Given the description of an element on the screen output the (x, y) to click on. 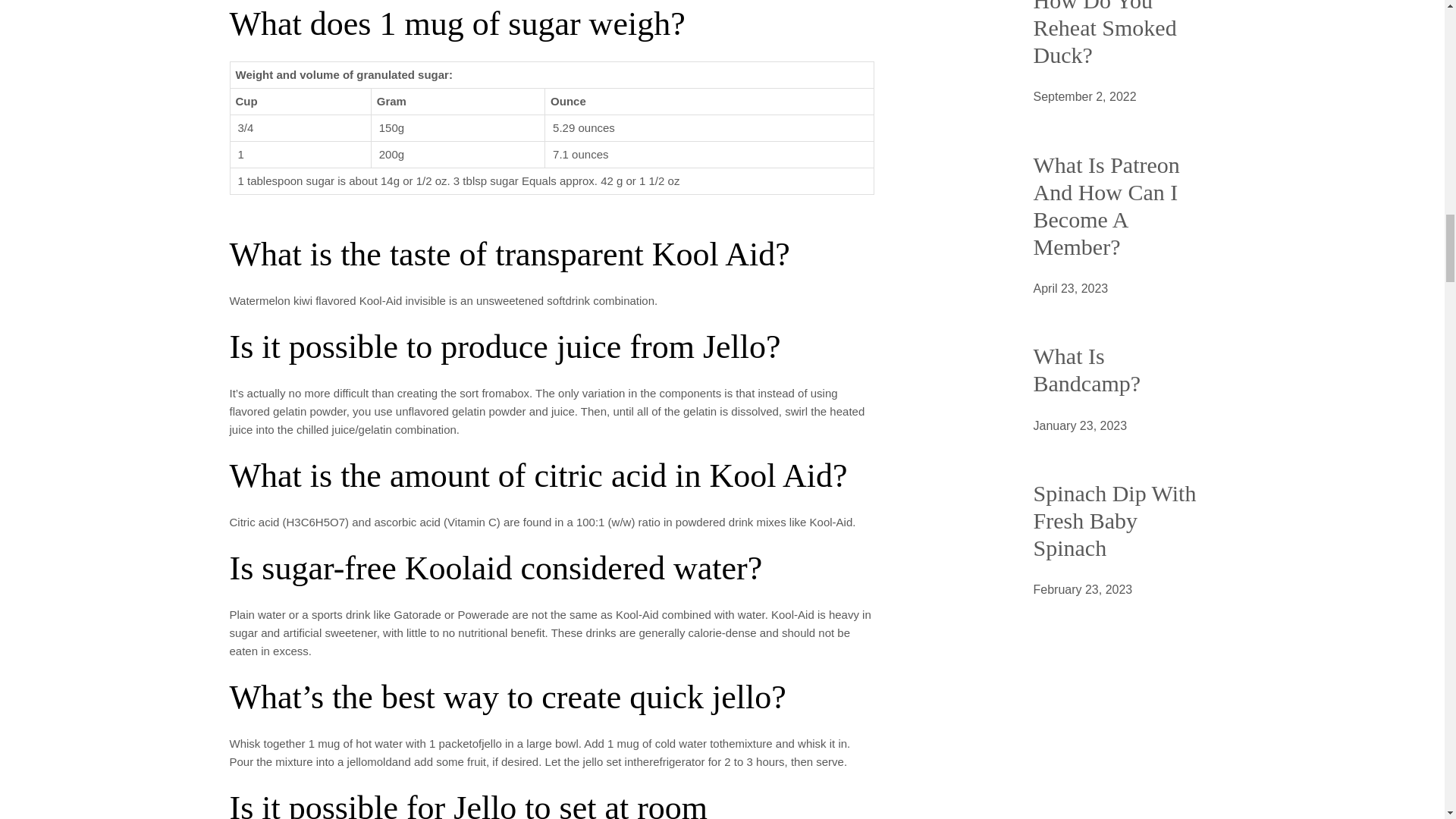
Title Text:  (1070, 288)
Title Text:  (1079, 425)
Title Text:  (1082, 589)
Title Text:  (1083, 96)
